Given the description of an element on the screen output the (x, y) to click on. 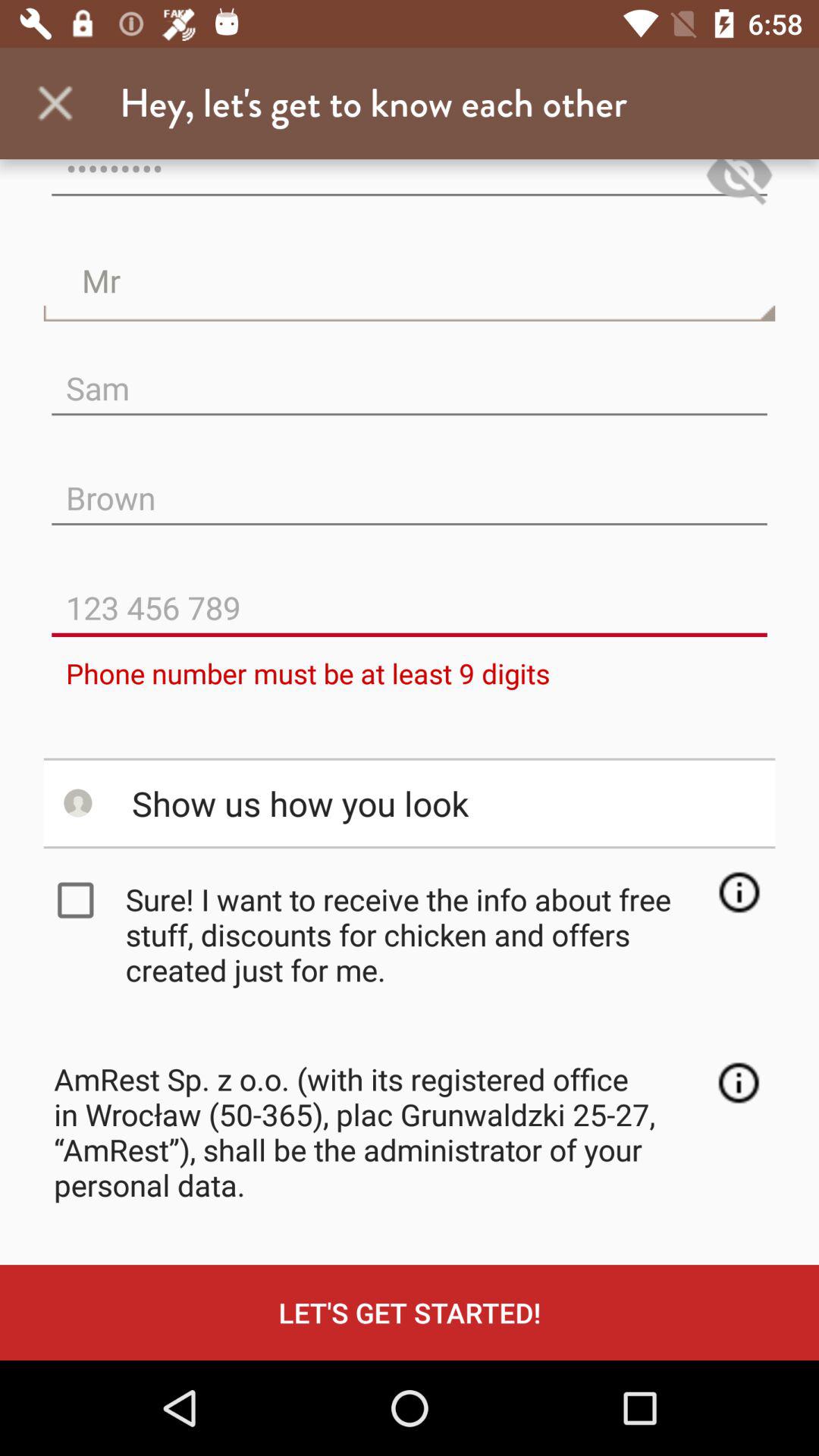
turn off item above the mr item (409, 185)
